Given the description of an element on the screen output the (x, y) to click on. 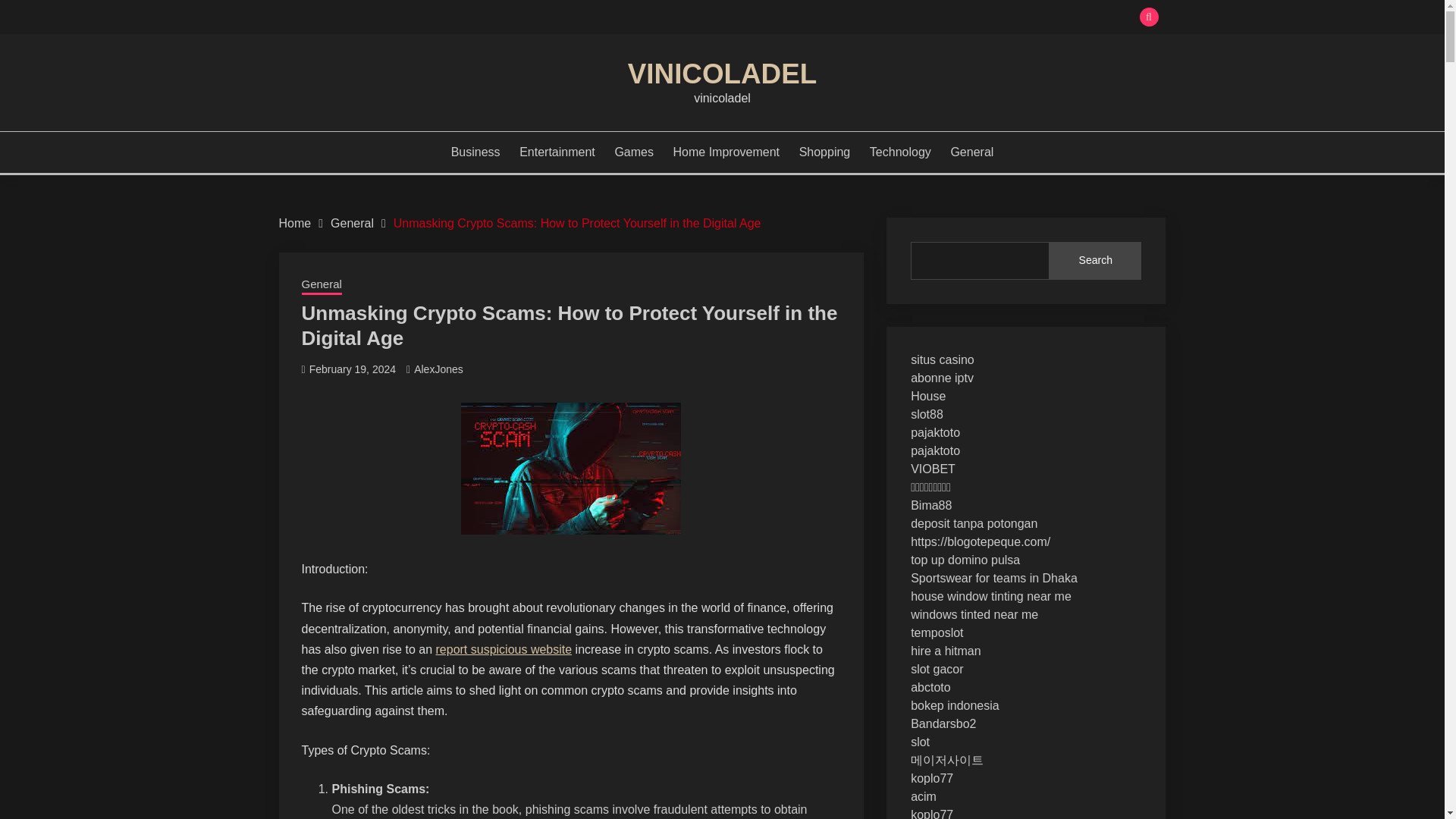
situs casino (942, 359)
Technology (900, 152)
abonne iptv (942, 377)
Home (295, 223)
report suspicious website (503, 649)
General (352, 223)
House (927, 395)
VINICOLADEL (721, 73)
General (971, 152)
